Given the description of an element on the screen output the (x, y) to click on. 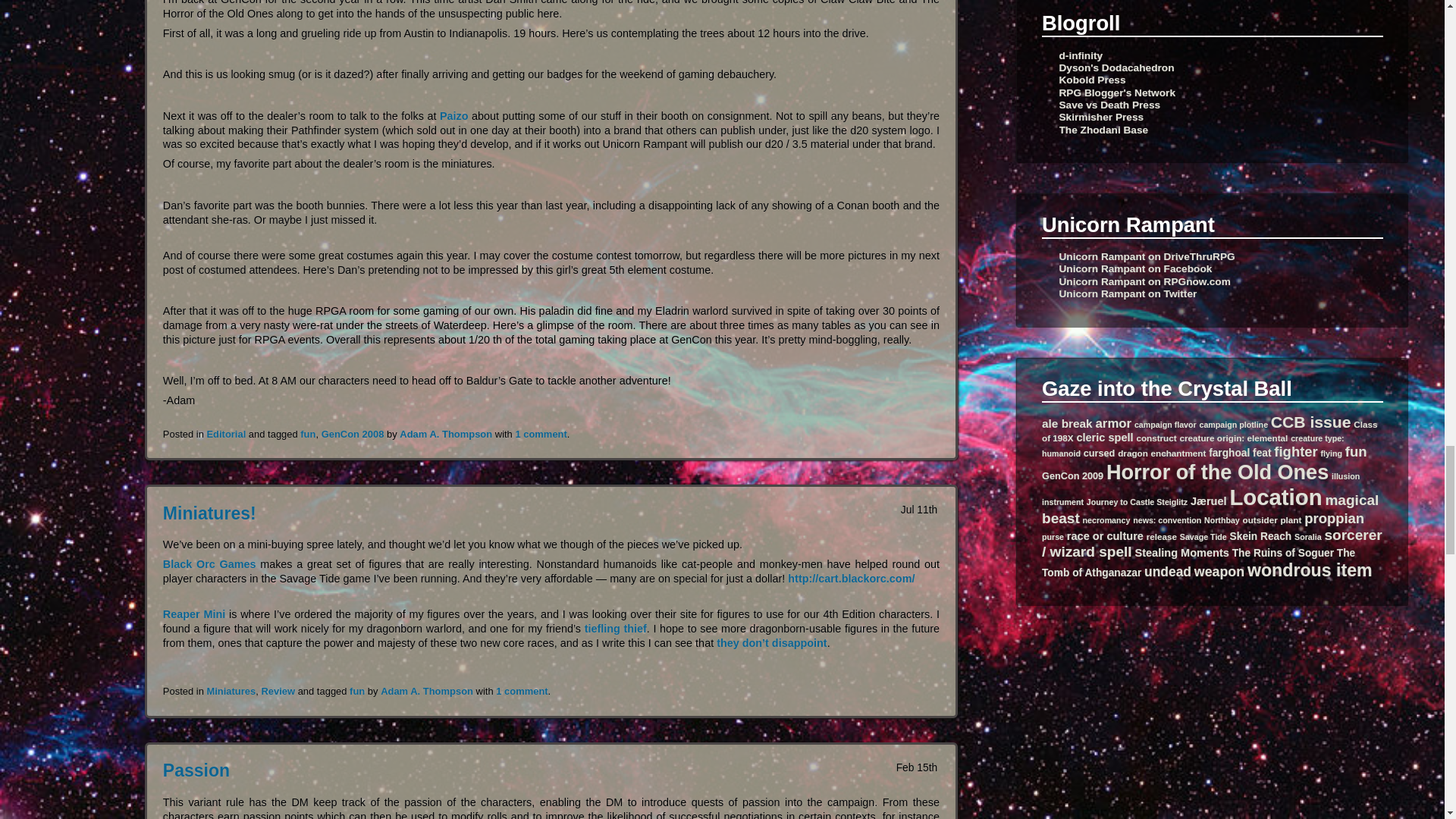
Miniatures! (209, 513)
Passion (196, 770)
Posts by Adam A. Thompson (426, 690)
Posts by Adam A. Thompson (445, 433)
